Given the description of an element on the screen output the (x, y) to click on. 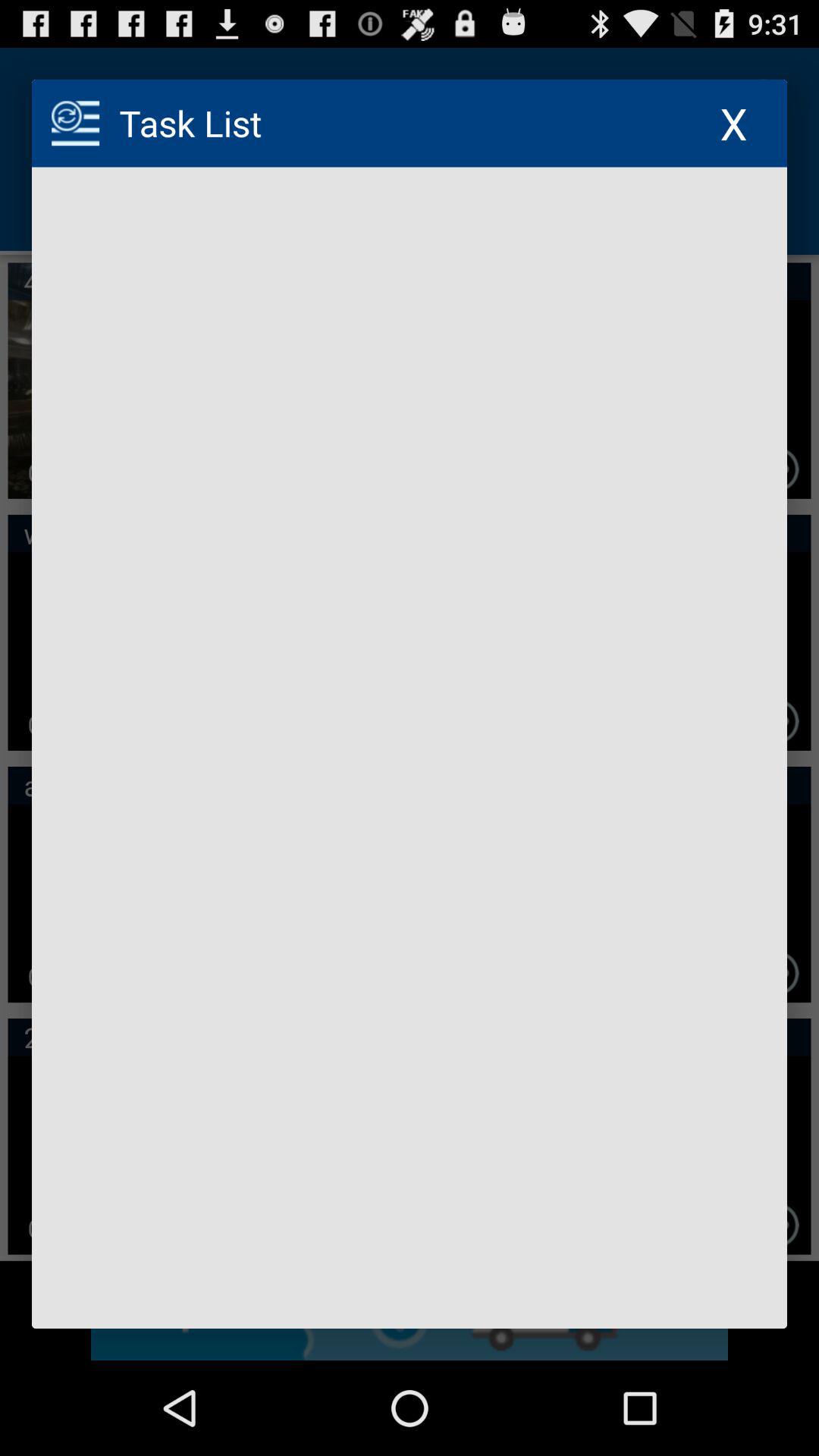
flip until the x item (733, 123)
